Given the description of an element on the screen output the (x, y) to click on. 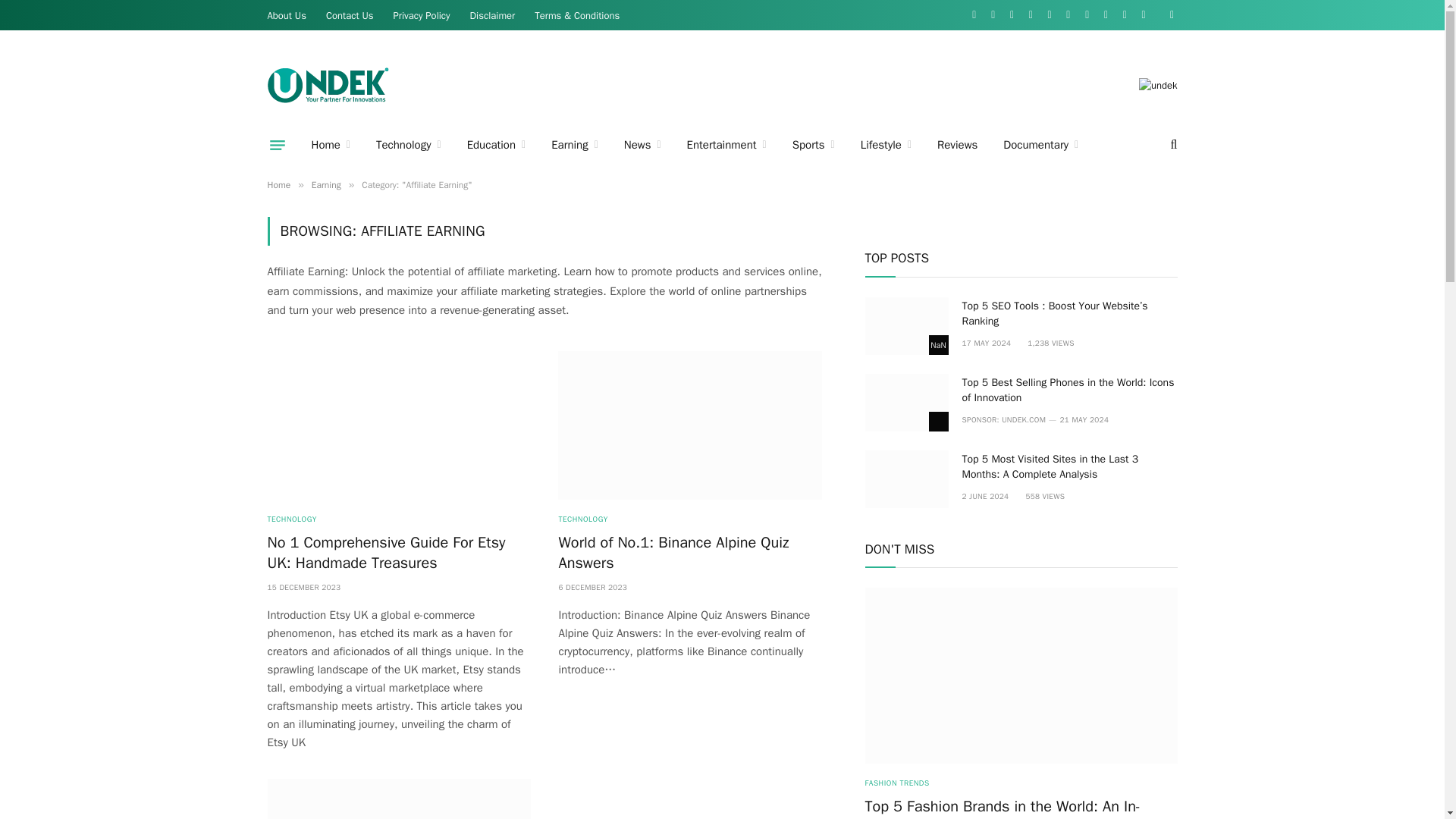
Privacy Policy (422, 15)
Contact Us (349, 15)
Home (330, 144)
About Us (286, 15)
undek.com (327, 85)
Disclaimer (492, 15)
Switch to Dark Design - easier on eyes. (1169, 14)
